Given the description of an element on the screen output the (x, y) to click on. 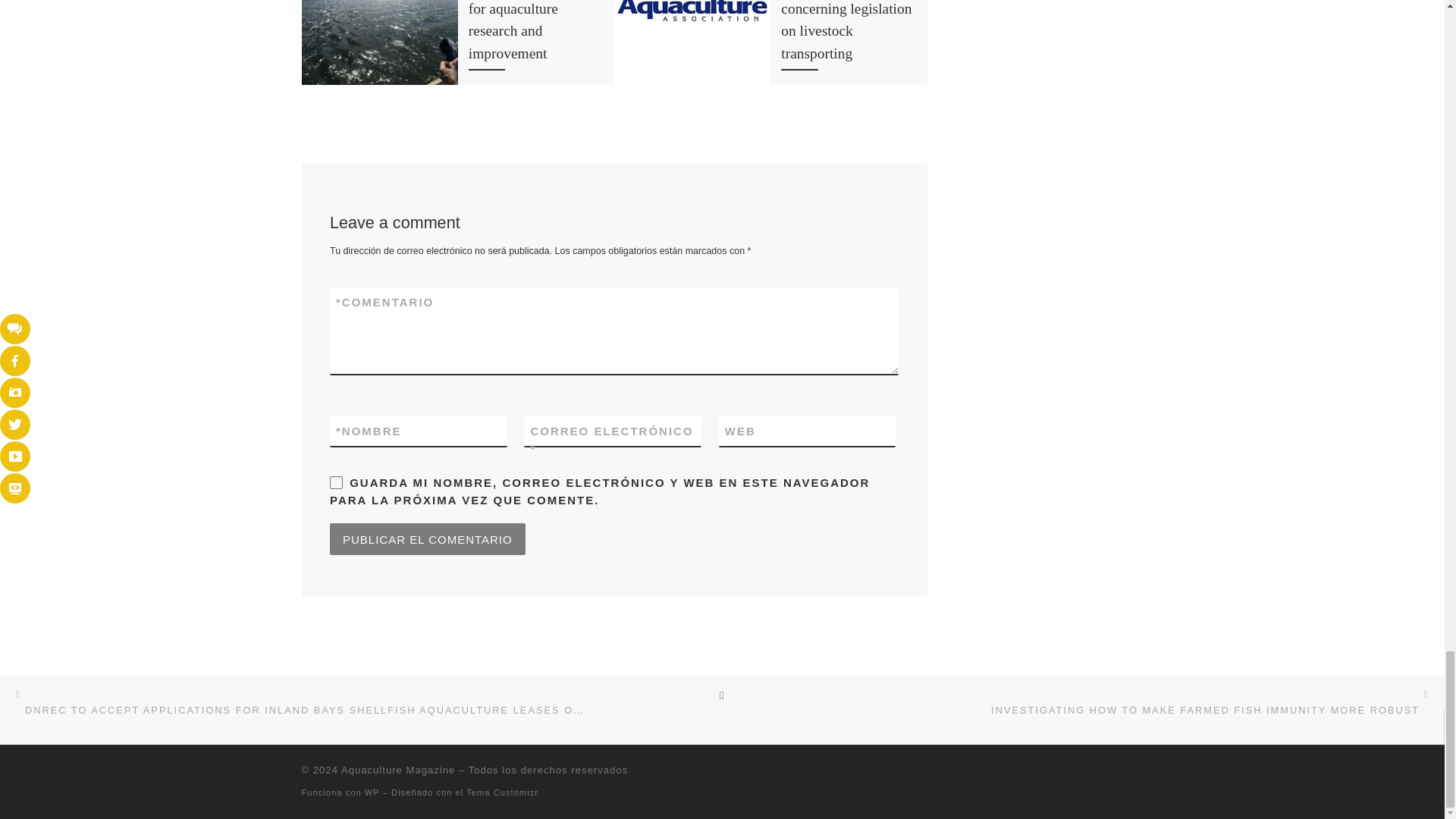
Publicar el comentario (427, 539)
yes (336, 481)
